Given the description of an element on the screen output the (x, y) to click on. 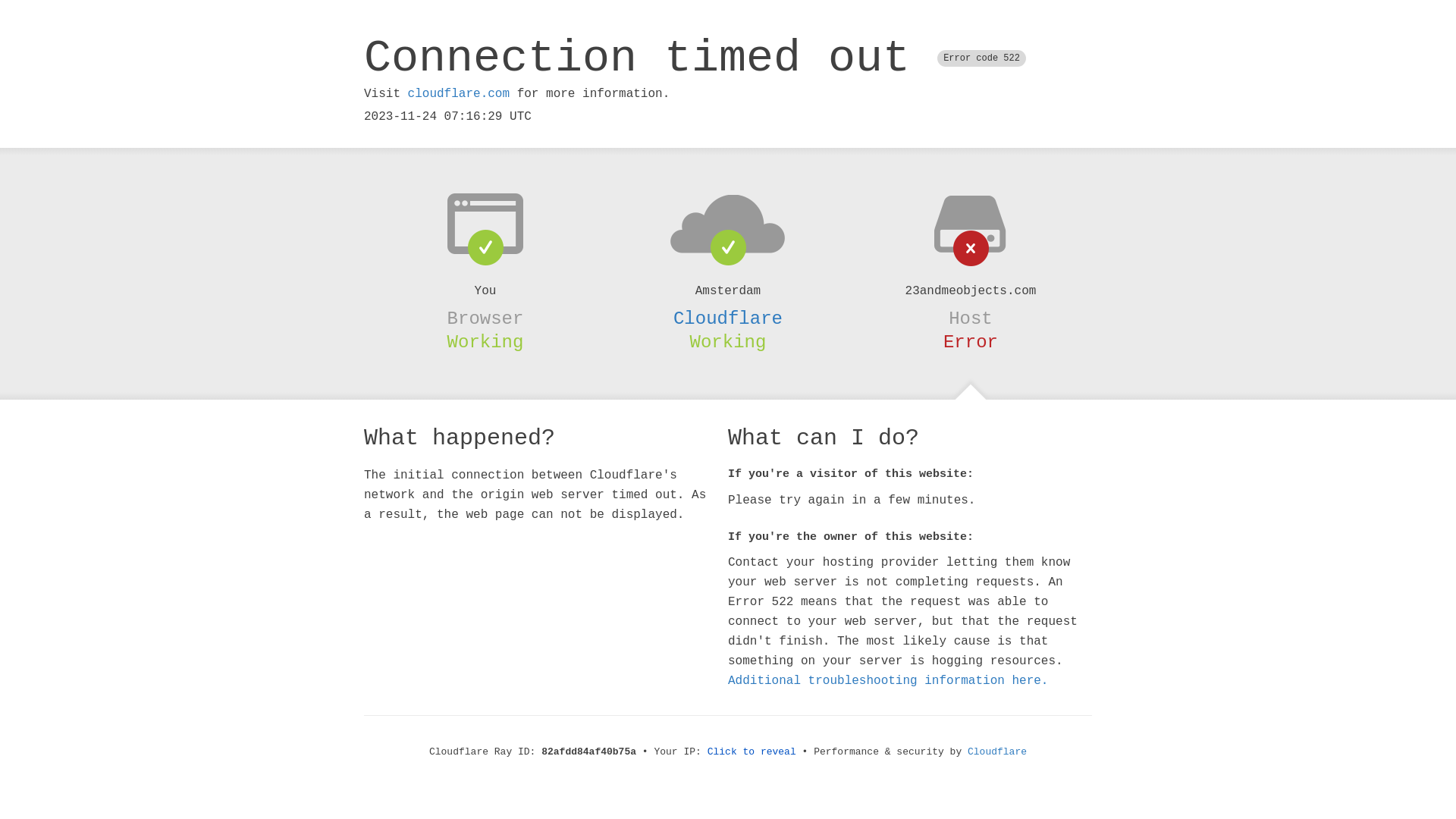
Cloudflare Element type: text (996, 751)
cloudflare.com Element type: text (458, 93)
Click to reveal Element type: text (751, 751)
Cloudflare Element type: text (727, 318)
Additional troubleshooting information here. Element type: text (888, 680)
